Given the description of an element on the screen output the (x, y) to click on. 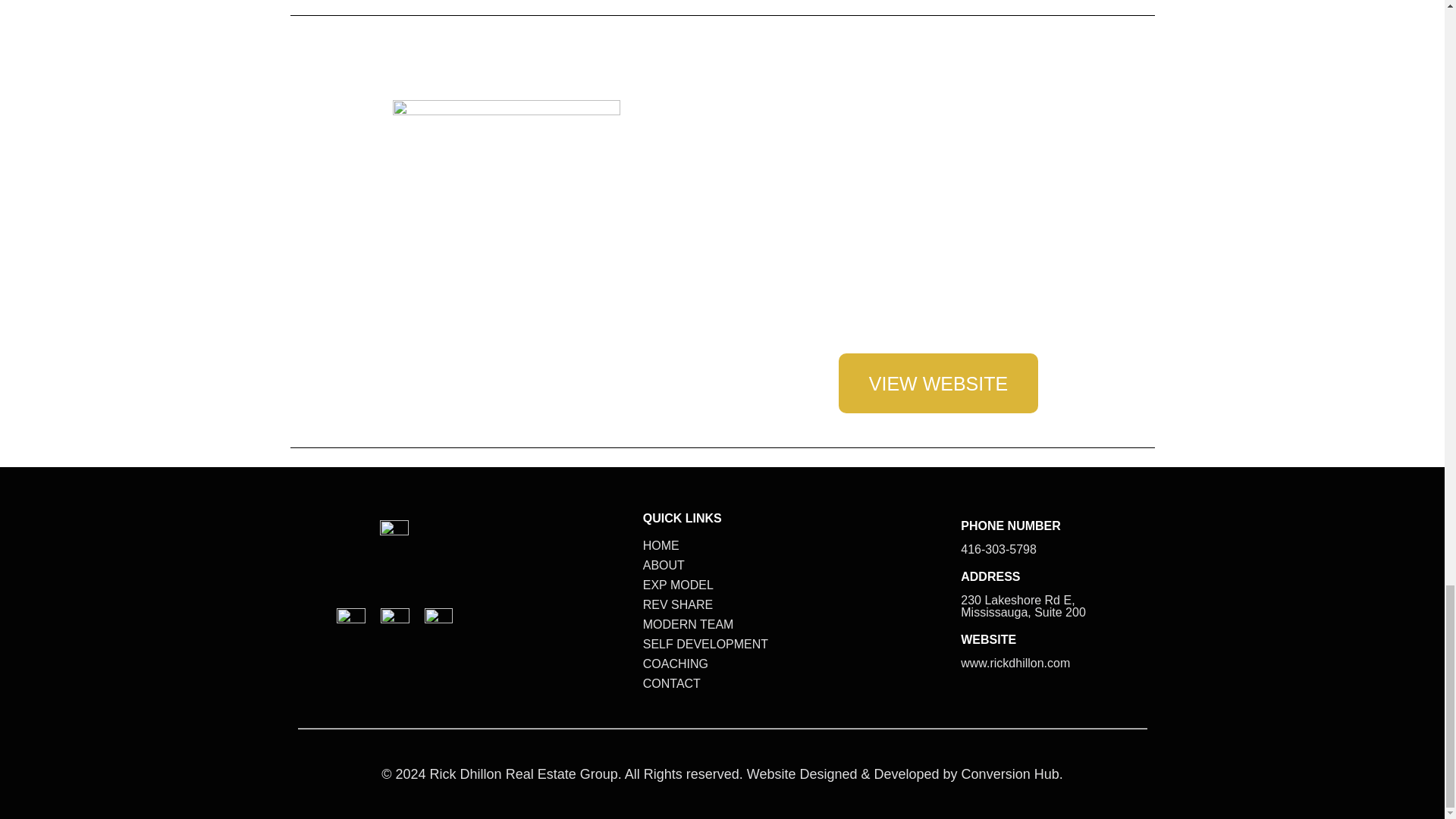
MODERN TEAM (688, 624)
SELF DEVELOPMENT (705, 644)
REV SHARE (678, 604)
ABOUT (663, 564)
HOME (661, 545)
EXP MODEL (678, 584)
VIEW WEBSITE (938, 382)
416-303-5798 (998, 549)
CONTACT (671, 683)
COACHING (675, 663)
